Given the description of an element on the screen output the (x, y) to click on. 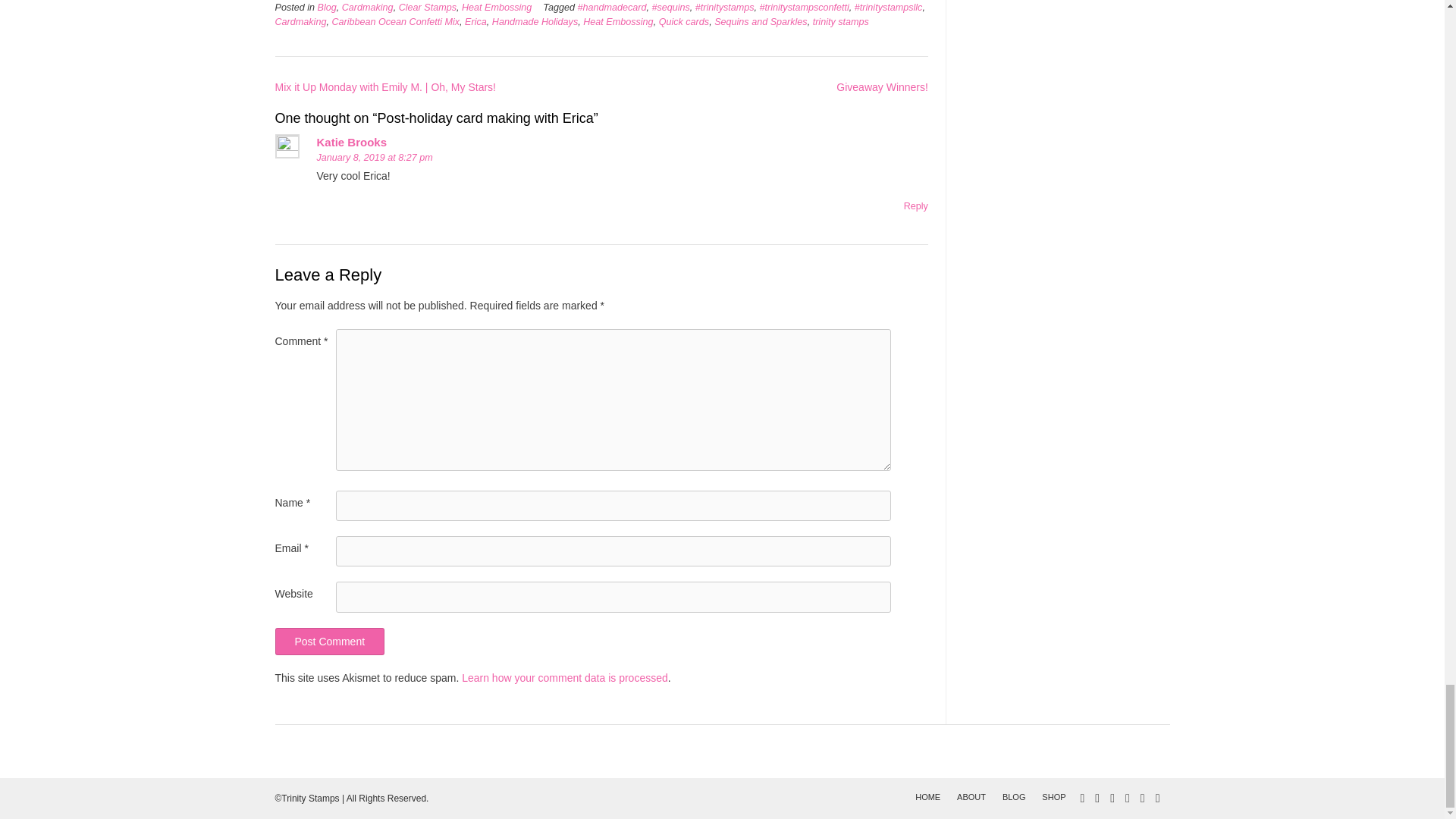
Erica (475, 21)
Post Comment (329, 641)
trinity stamps (840, 21)
Sequins and Sparkles (761, 21)
Cardmaking (300, 21)
Clear Stamps (427, 7)
Cardmaking (367, 7)
Heat Embossing (496, 7)
Handmade Holidays (535, 21)
Learn how your comment data is processed (564, 677)
